Given the description of an element on the screen output the (x, y) to click on. 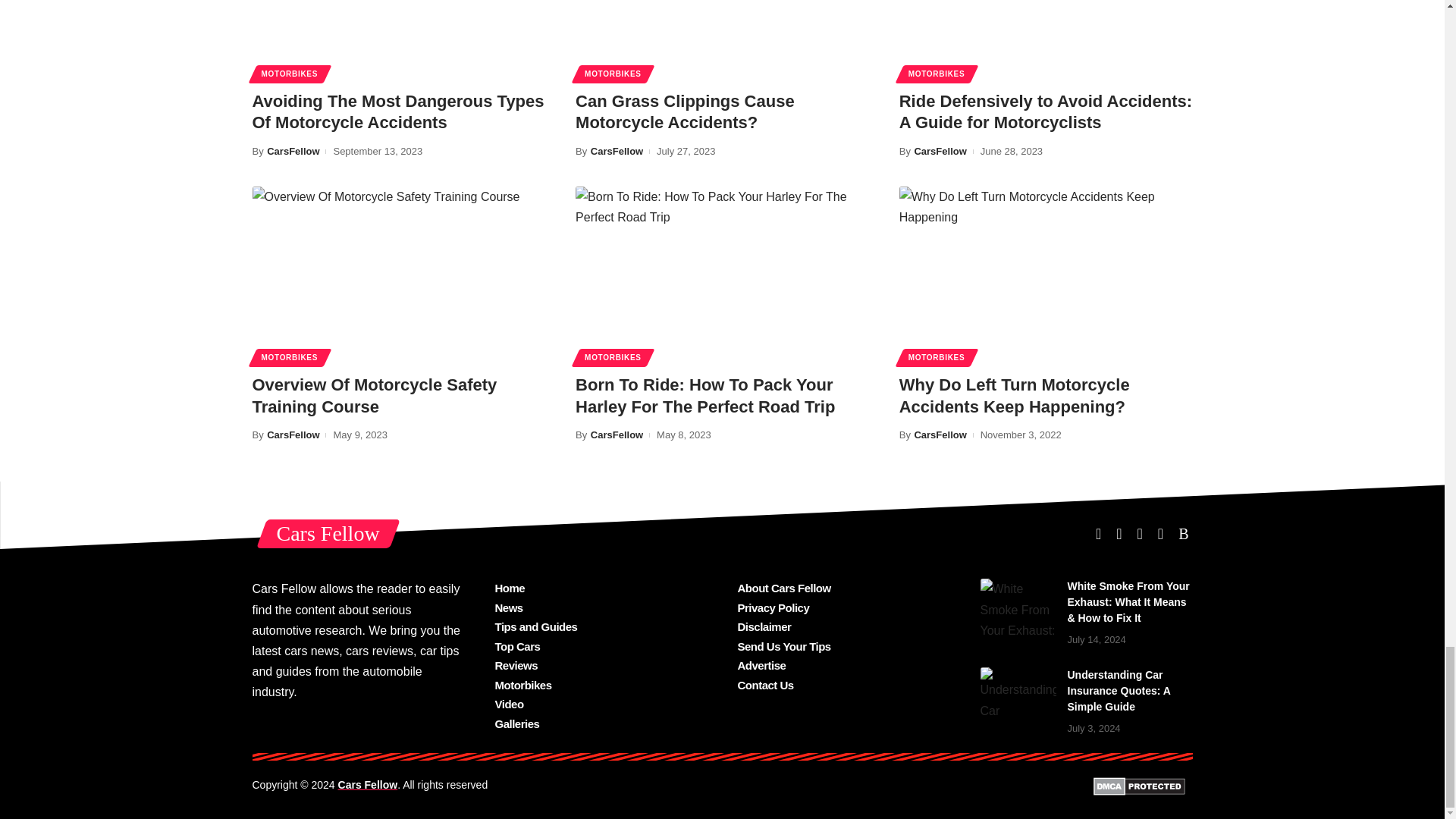
Avoiding The Most Dangerous Types Of Motorcycle Accidents (397, 39)
Understanding Car Insurance Quotes: A Simple Guide (1017, 695)
Can Grass Clippings Cause Motorcycle Accidents? (722, 39)
Why Do Left Turn Motorcycle Accidents Keep Happening? (1045, 274)
Overview Of Motorcycle Safety Training Course (397, 274)
